Given the description of an element on the screen output the (x, y) to click on. 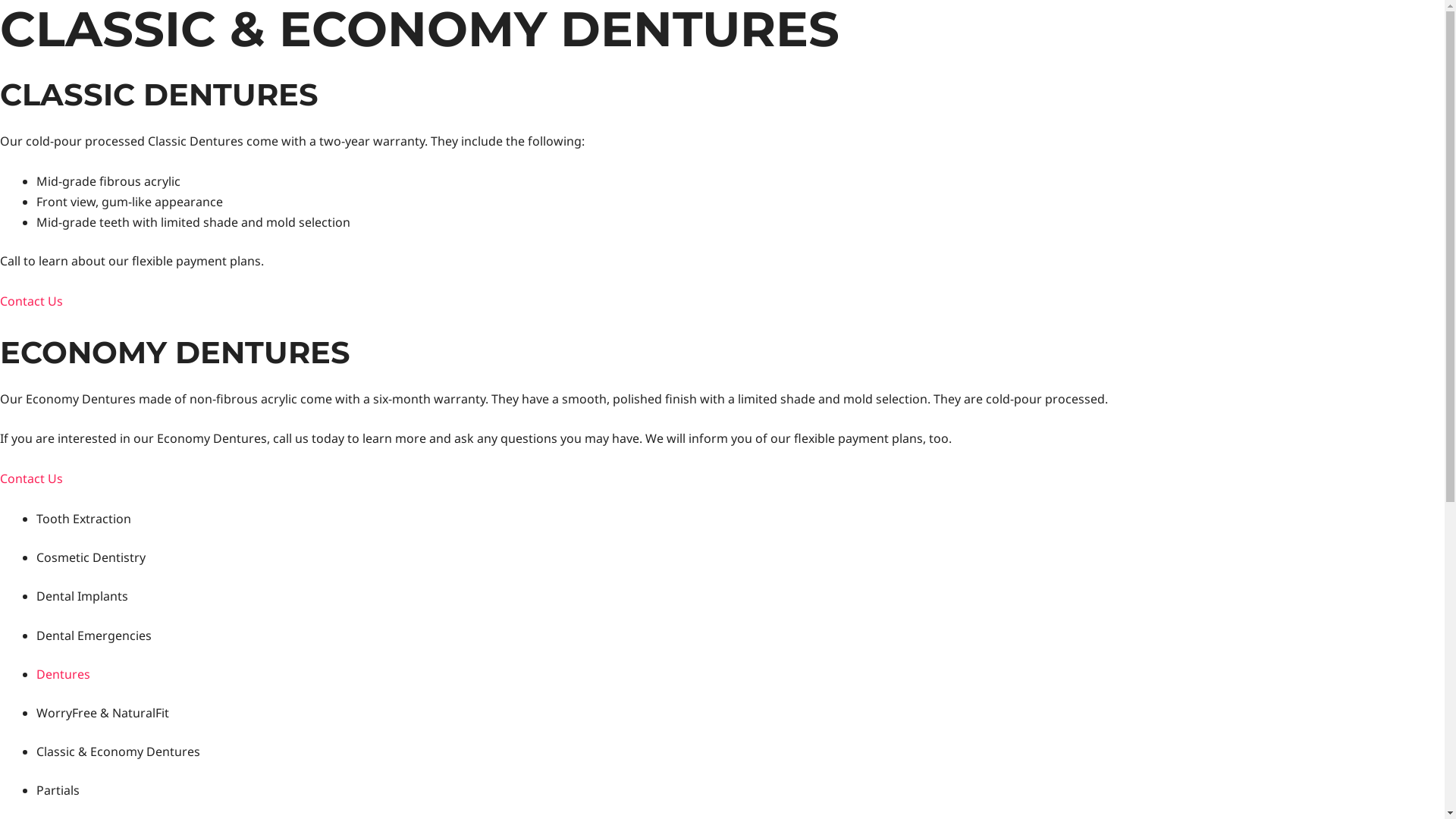
Contact Us Element type: text (31, 300)
Dentures Element type: text (63, 673)
Contact Us Element type: text (31, 478)
